Given the description of an element on the screen output the (x, y) to click on. 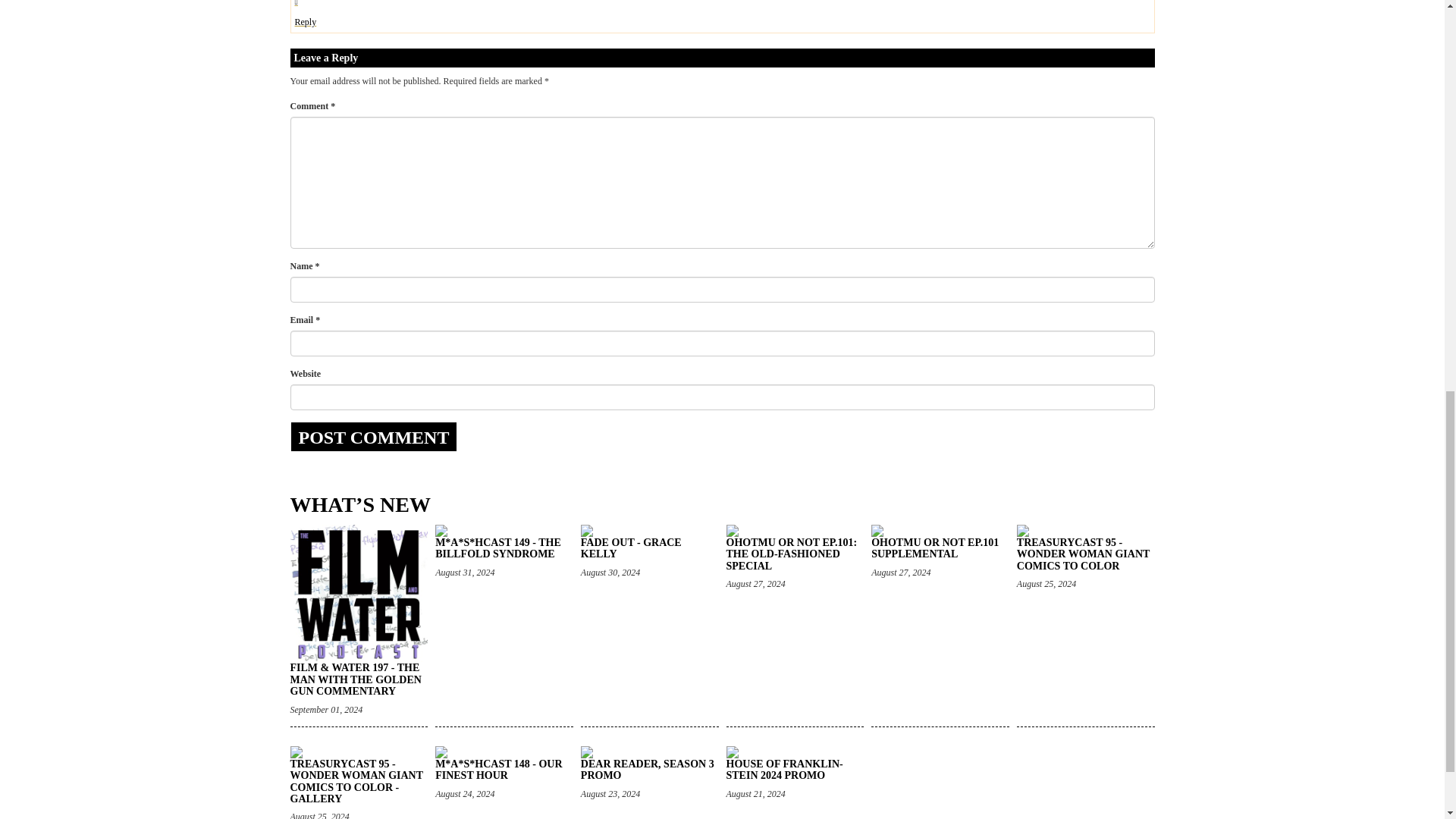
OHOTMU OR NOT EP.101: THE OLD-FASHIONED SPECIAL (791, 554)
Reply (304, 21)
Post Comment (373, 436)
FADE OUT - GRACE KELLY (630, 548)
Post Comment (373, 436)
